Given the description of an element on the screen output the (x, y) to click on. 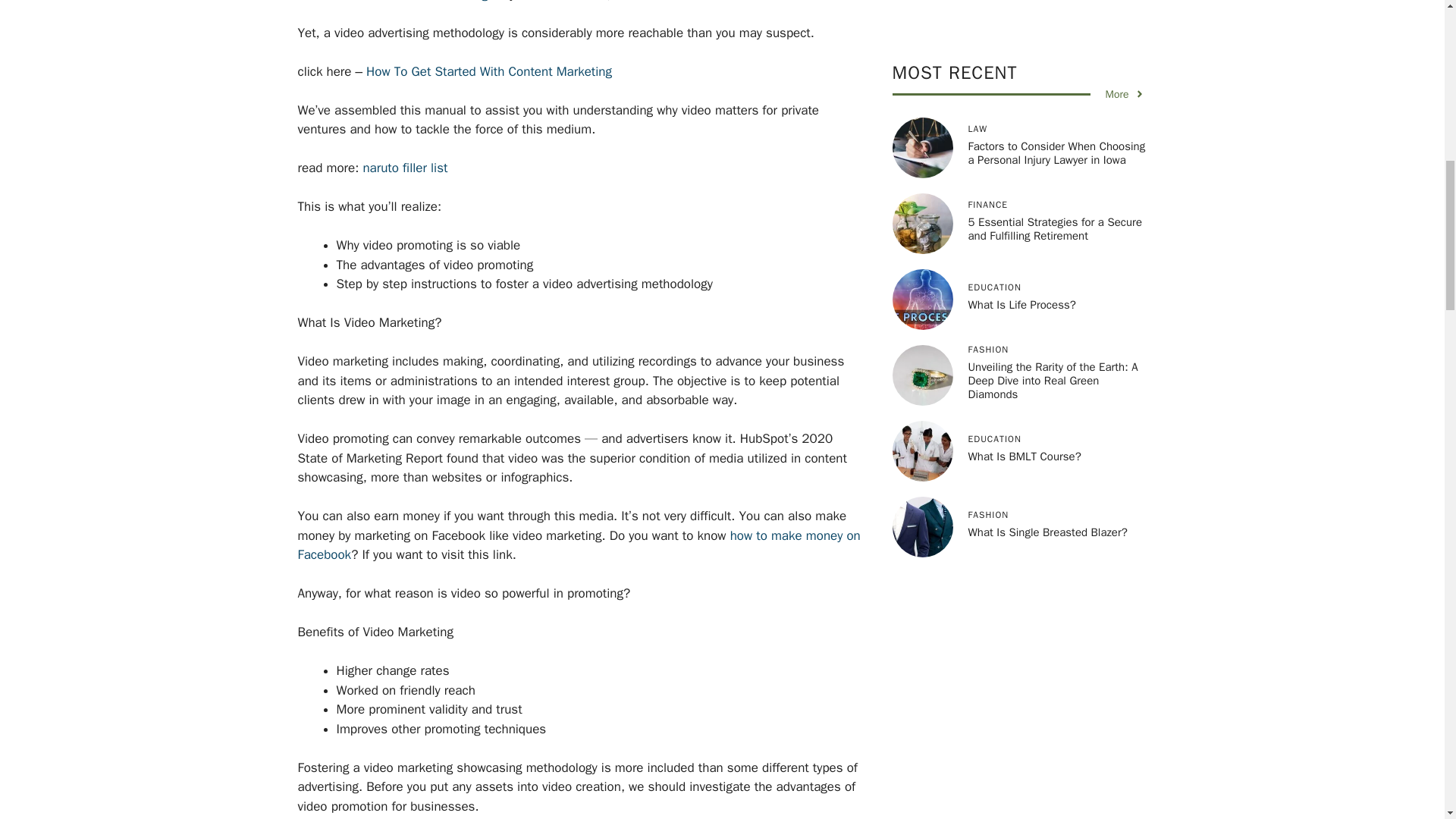
naruto filler list (404, 167)
how to make money on Facebook (578, 545)
How To Get Started With Content Marketing (488, 71)
